Given the description of an element on the screen output the (x, y) to click on. 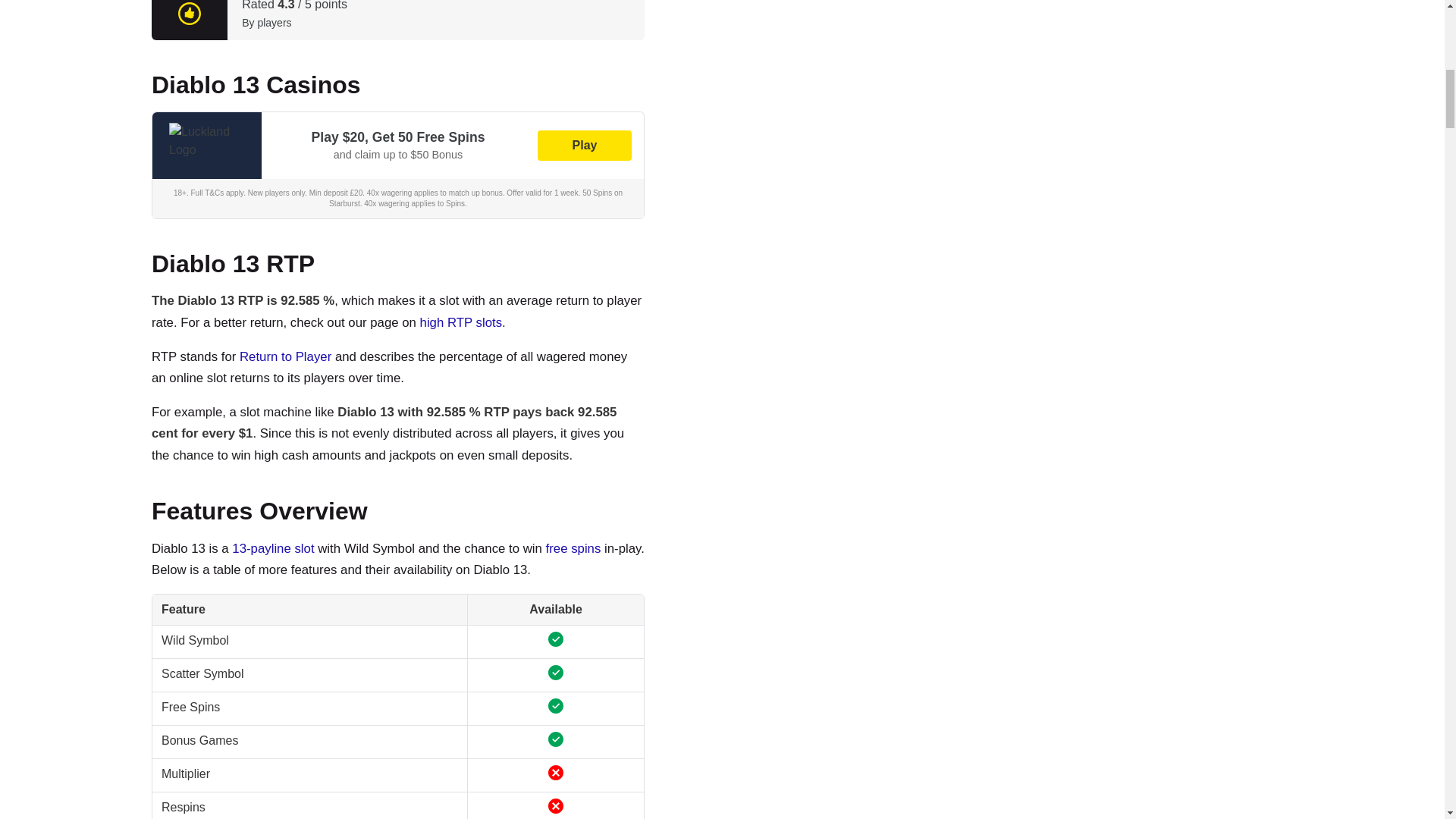
high RTP slots (461, 322)
Return to Player (285, 356)
13-payline slot (272, 548)
free spins (573, 548)
Play (584, 145)
